Given the description of an element on the screen output the (x, y) to click on. 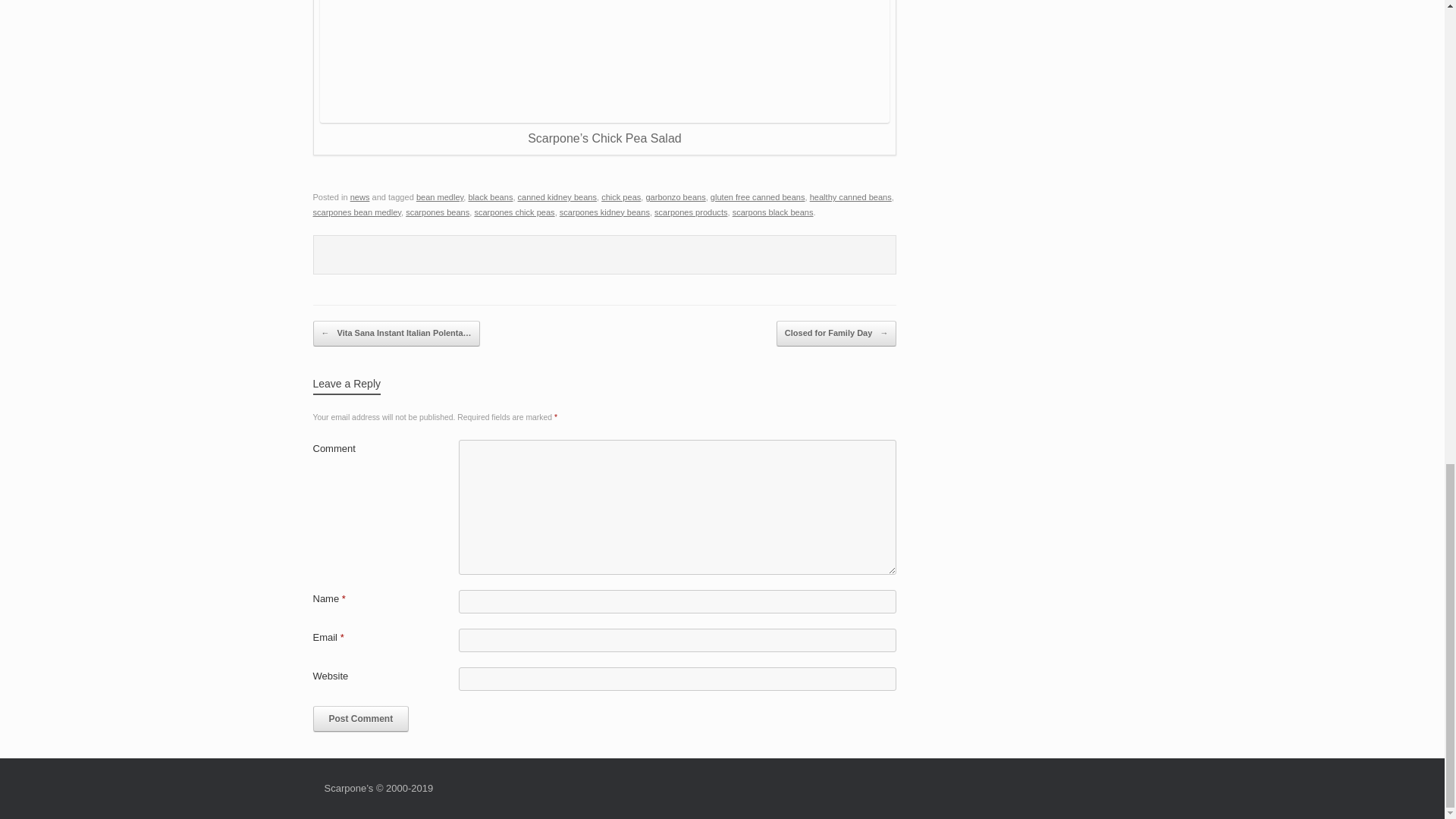
black beans (489, 196)
bean medley (439, 196)
scarpons black beans (772, 212)
chick peas (620, 196)
healthy canned beans (850, 196)
news (359, 196)
scarpones beans (437, 212)
scarpones kidney beans (604, 212)
Post Comment (361, 718)
scarpones chick peas (514, 212)
Post Comment (361, 718)
garbonzo beans (674, 196)
scarpones products (689, 212)
gluten free canned beans (757, 196)
canned kidney beans (557, 196)
